Given the description of an element on the screen output the (x, y) to click on. 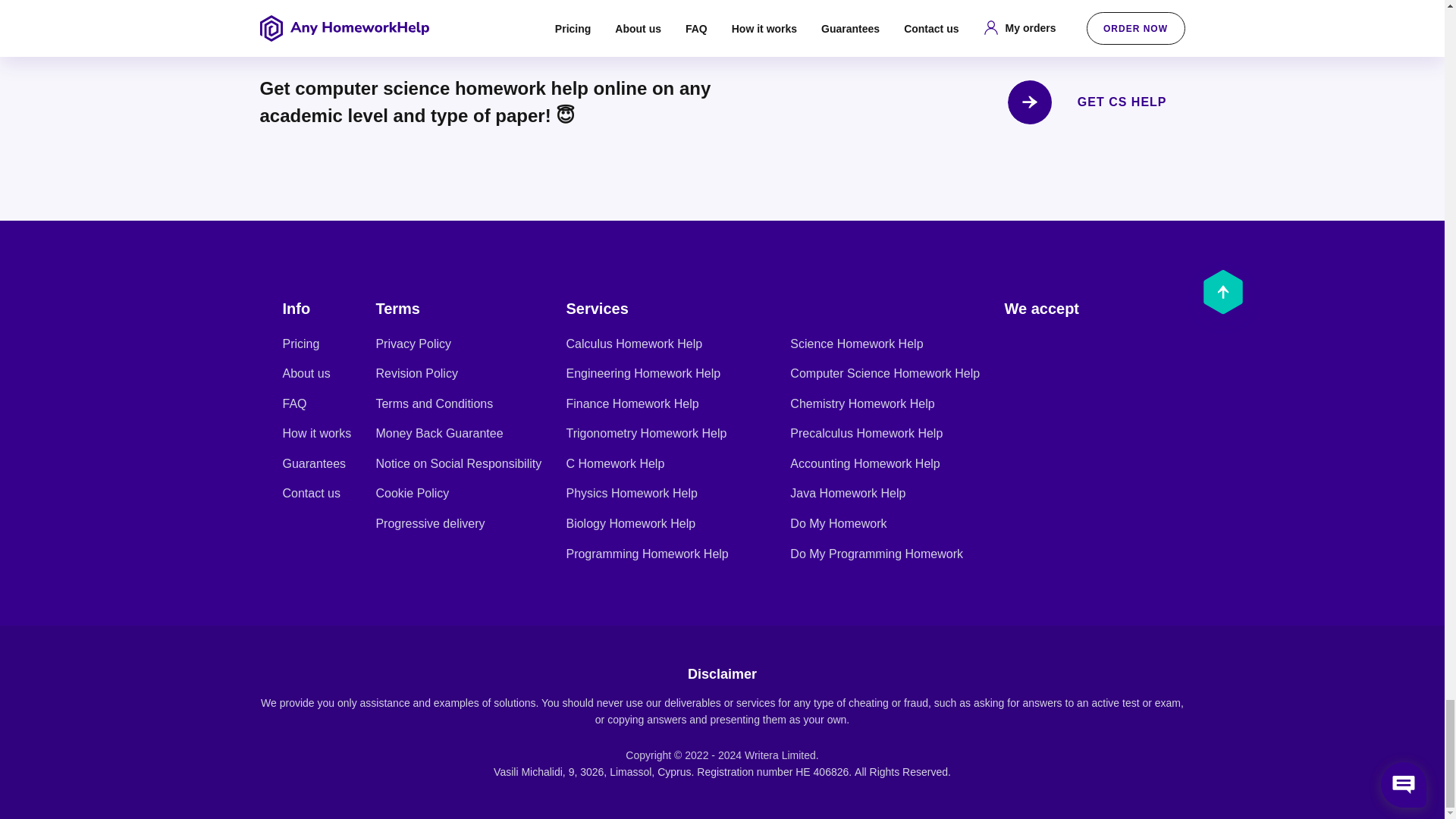
Accounting Homework Help (864, 463)
Privacy Policy (413, 343)
Contact us (310, 492)
Finance Homework Help (632, 403)
C Homework Help (614, 463)
GET CS HELP (1096, 102)
FAQ (293, 403)
Engineering Homework Help (643, 373)
Precalculus Homework Help (866, 432)
Cookie Policy (411, 492)
